Given the description of an element on the screen output the (x, y) to click on. 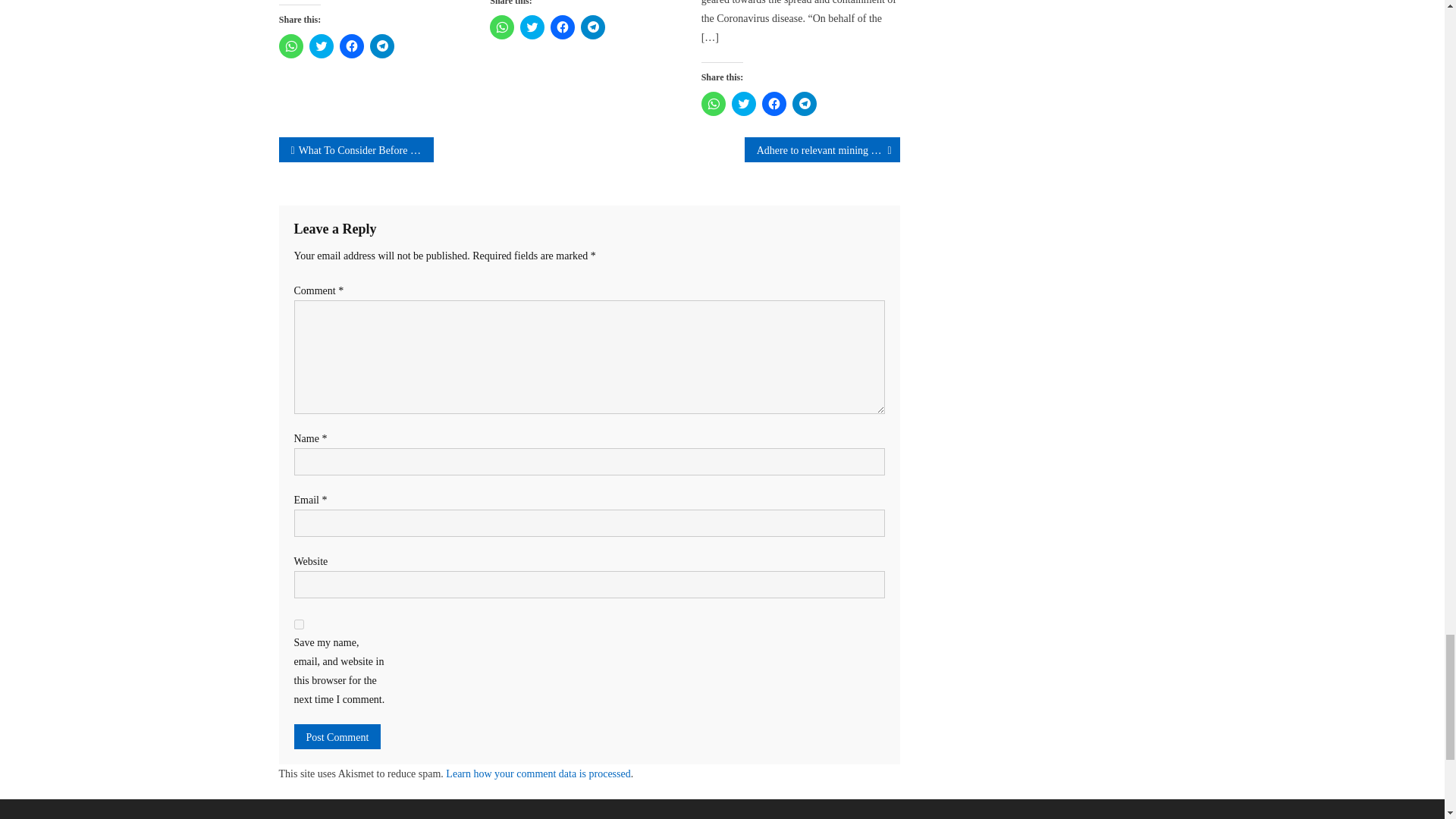
Click to share on WhatsApp (501, 27)
Post Comment (337, 736)
yes (299, 624)
Click to share on Facebook (562, 27)
Click to share on Facebook (351, 46)
Click to share on WhatsApp (290, 46)
Click to share on Twitter (320, 46)
Click to share on Telegram (381, 46)
Click to share on WhatsApp (713, 103)
Click to share on Twitter (531, 27)
Click to share on Telegram (592, 27)
